Given the description of an element on the screen output the (x, y) to click on. 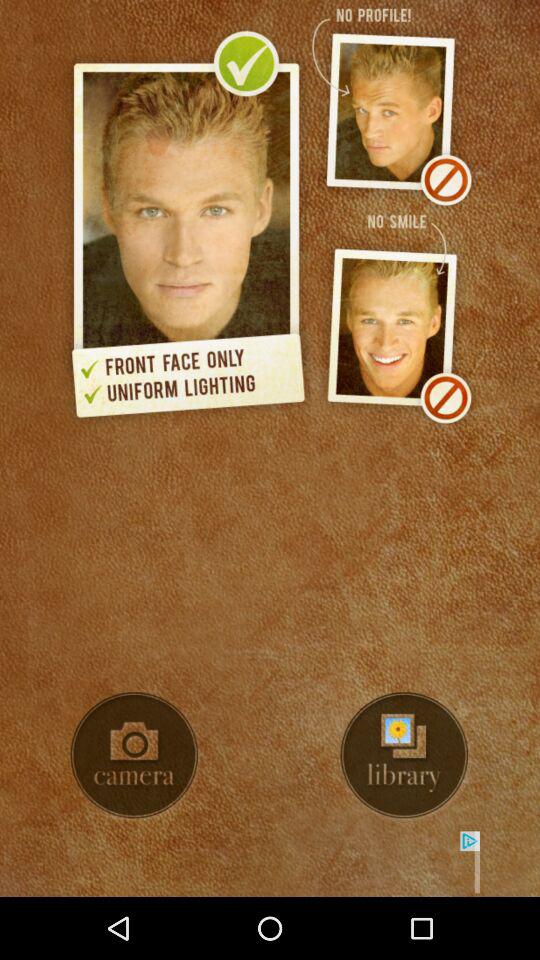
open the photo library (404, 755)
